Given the description of an element on the screen output the (x, y) to click on. 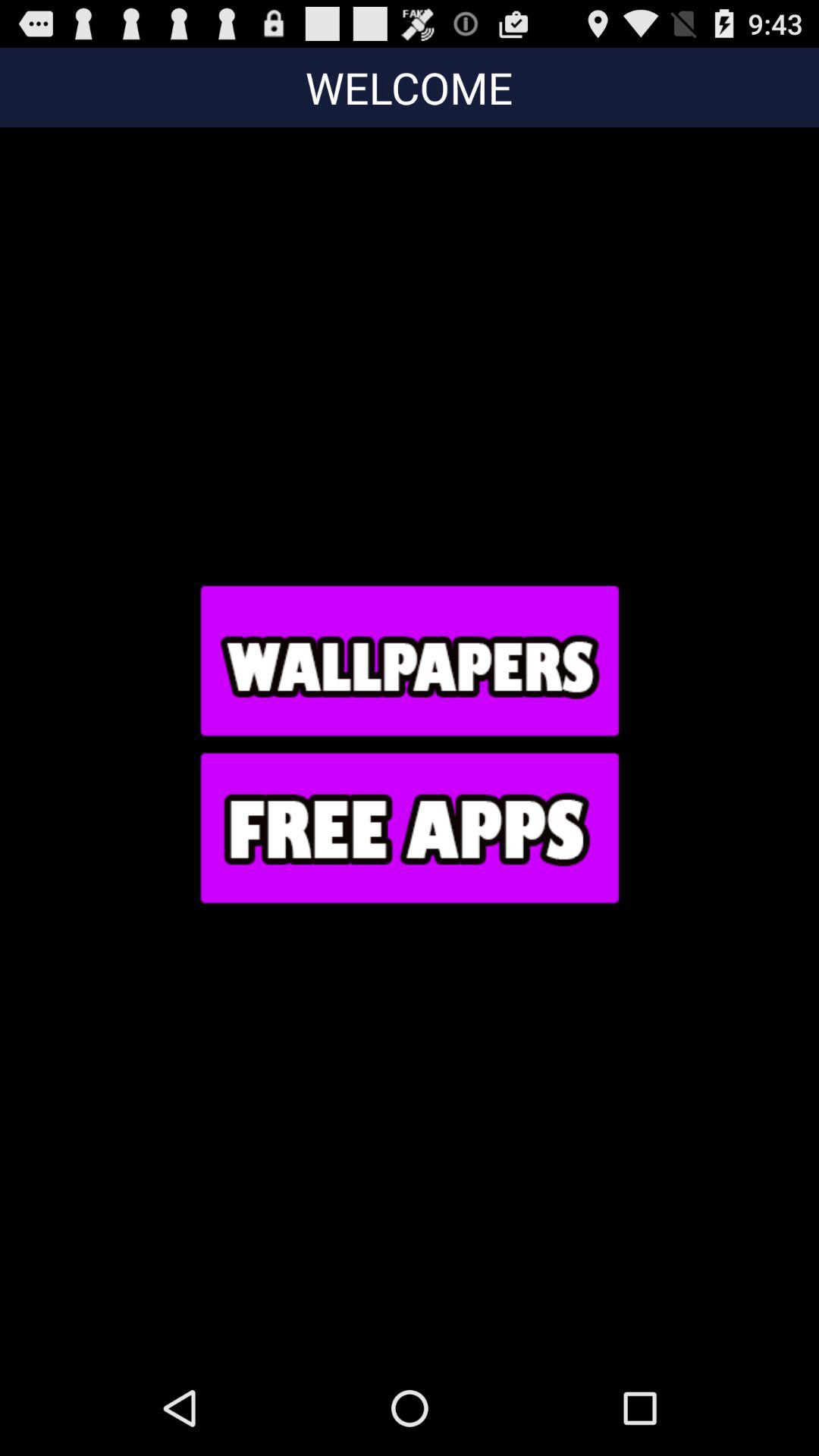
viewing the free apps available on the website (408, 827)
